Given the description of an element on the screen output the (x, y) to click on. 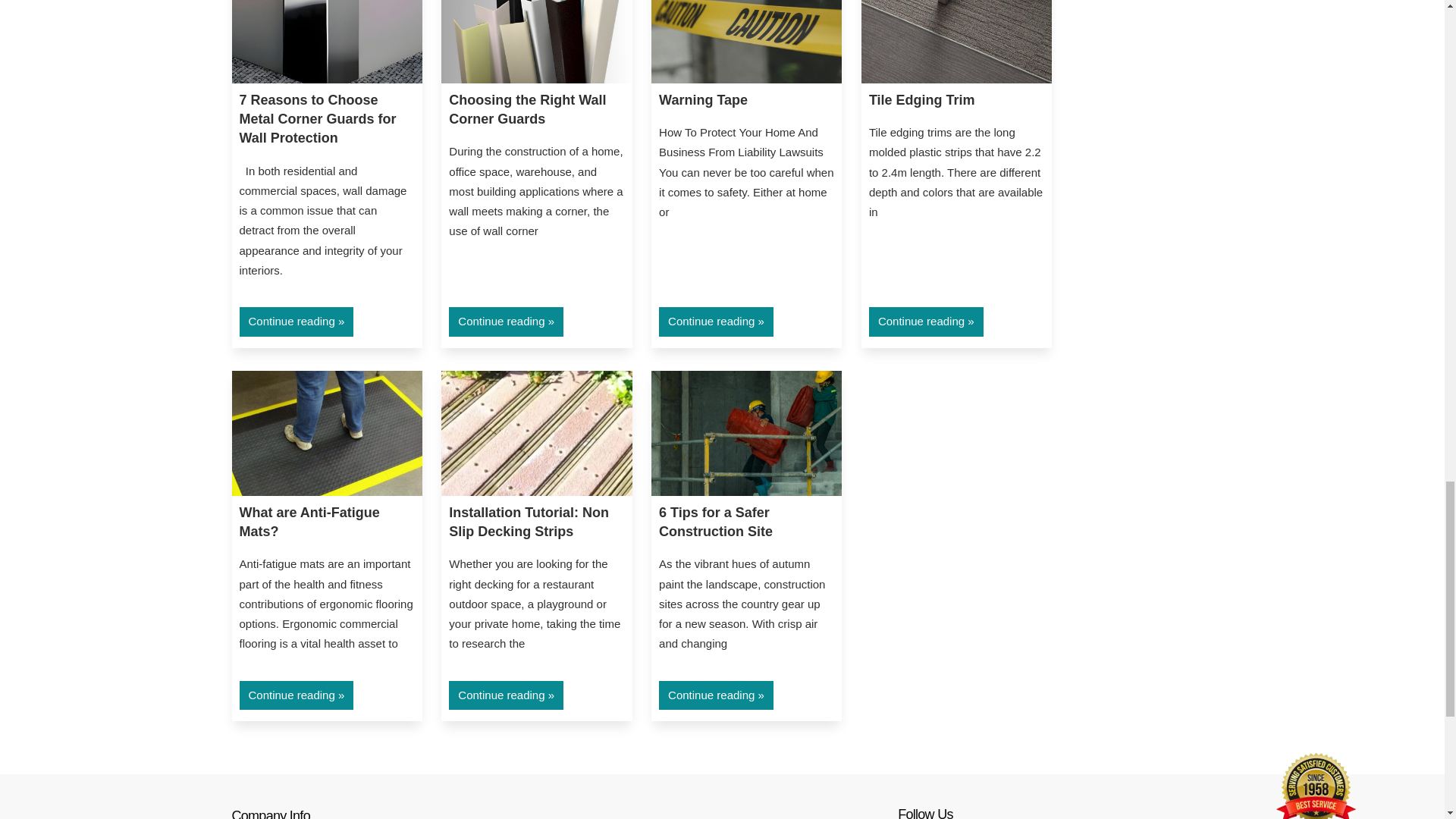
Choosing the Right Wall Corner Guards 32 (536, 41)
Tile Edging Trim 39 (956, 41)
Warning Tape 38 (745, 41)
